Given the description of an element on the screen output the (x, y) to click on. 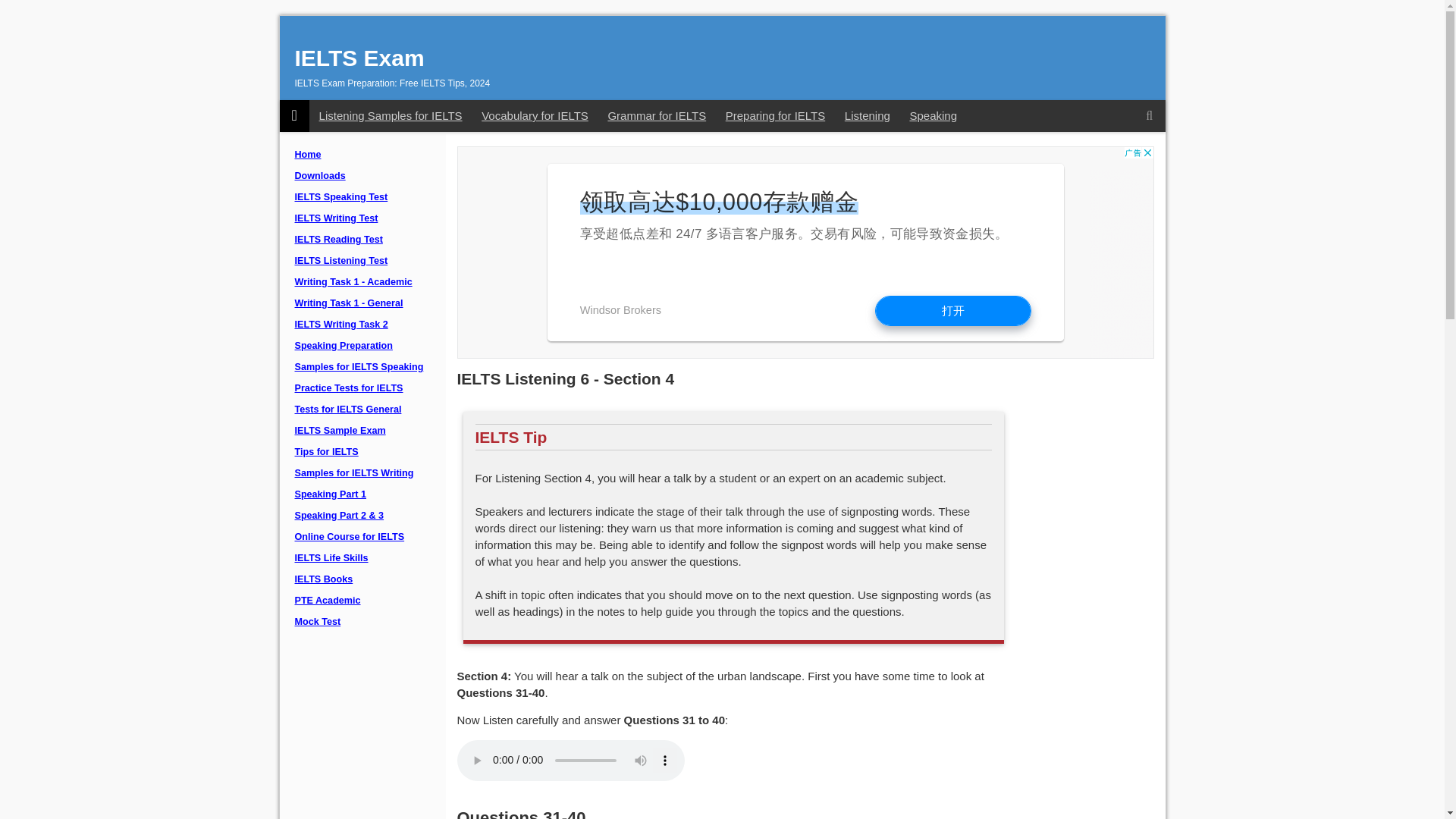
Speaking Part 1 (362, 495)
Speaking (932, 115)
Home (362, 155)
Grammar for IELTS (657, 115)
IELTS Writing Test (362, 219)
IELTS Speaking Test (362, 197)
IELTS Listening Test (362, 260)
Speaking Preparation (362, 346)
Speaking (932, 115)
Listening (866, 115)
Home (362, 155)
Writing Task 1 - Academic (362, 282)
IELTS Exam (358, 57)
PTE Academic (362, 600)
Downloads (362, 176)
